Given the description of an element on the screen output the (x, y) to click on. 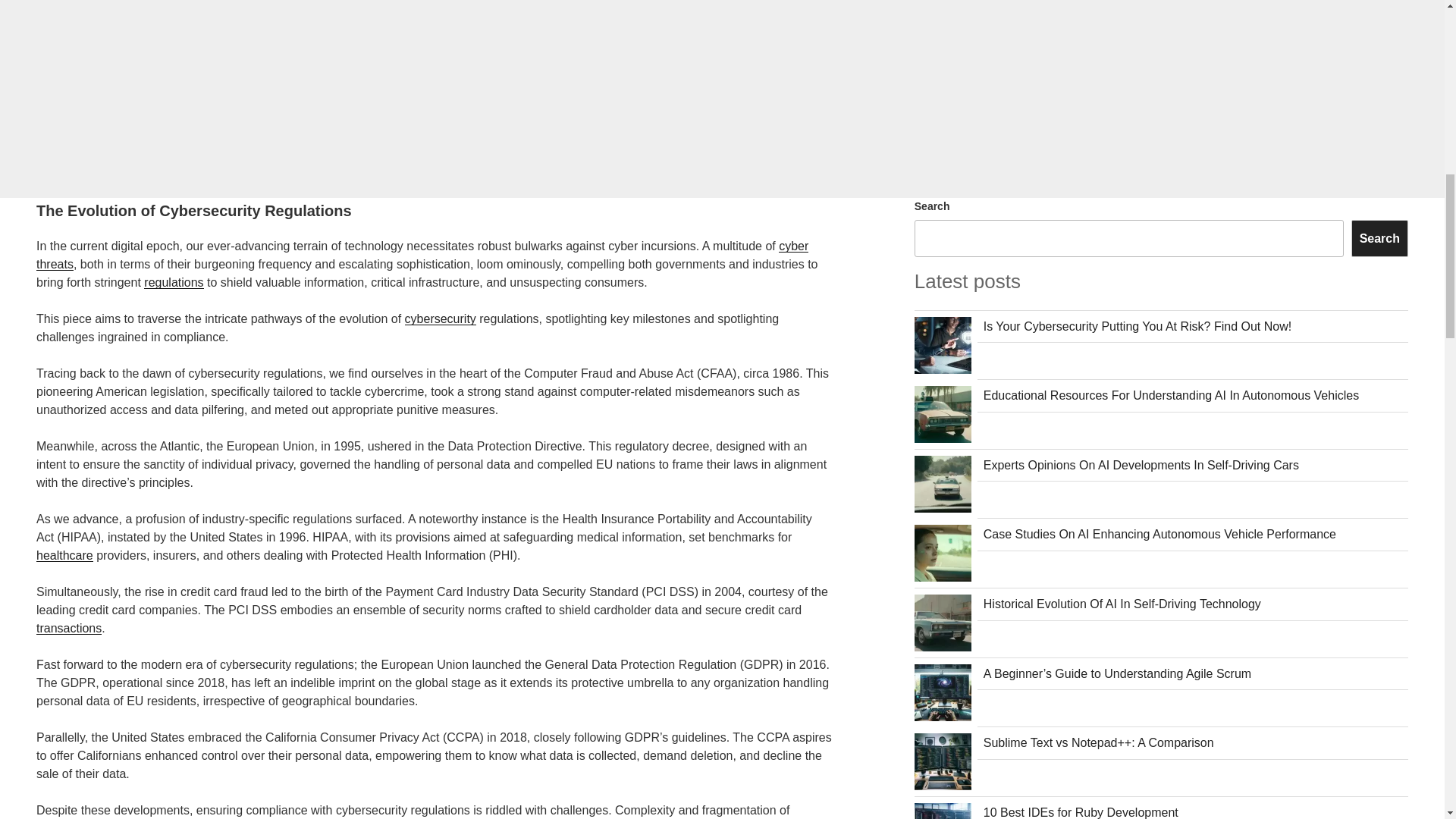
transactions (68, 627)
cyber threats (422, 255)
Is Your Cybersecurity Putting You At Risk? Find Out Now! (1137, 326)
Case Studies On AI Enhancing Autonomous Vehicle Performance (1160, 533)
Historical Evolution Of AI In Self-Driving Technology (1122, 603)
10 Best IDEs for Ruby Development (1080, 812)
Search (1379, 238)
healthcare (64, 554)
Experts Opinions On AI Developments In Self-Driving Cars (1141, 464)
